Given the description of an element on the screen output the (x, y) to click on. 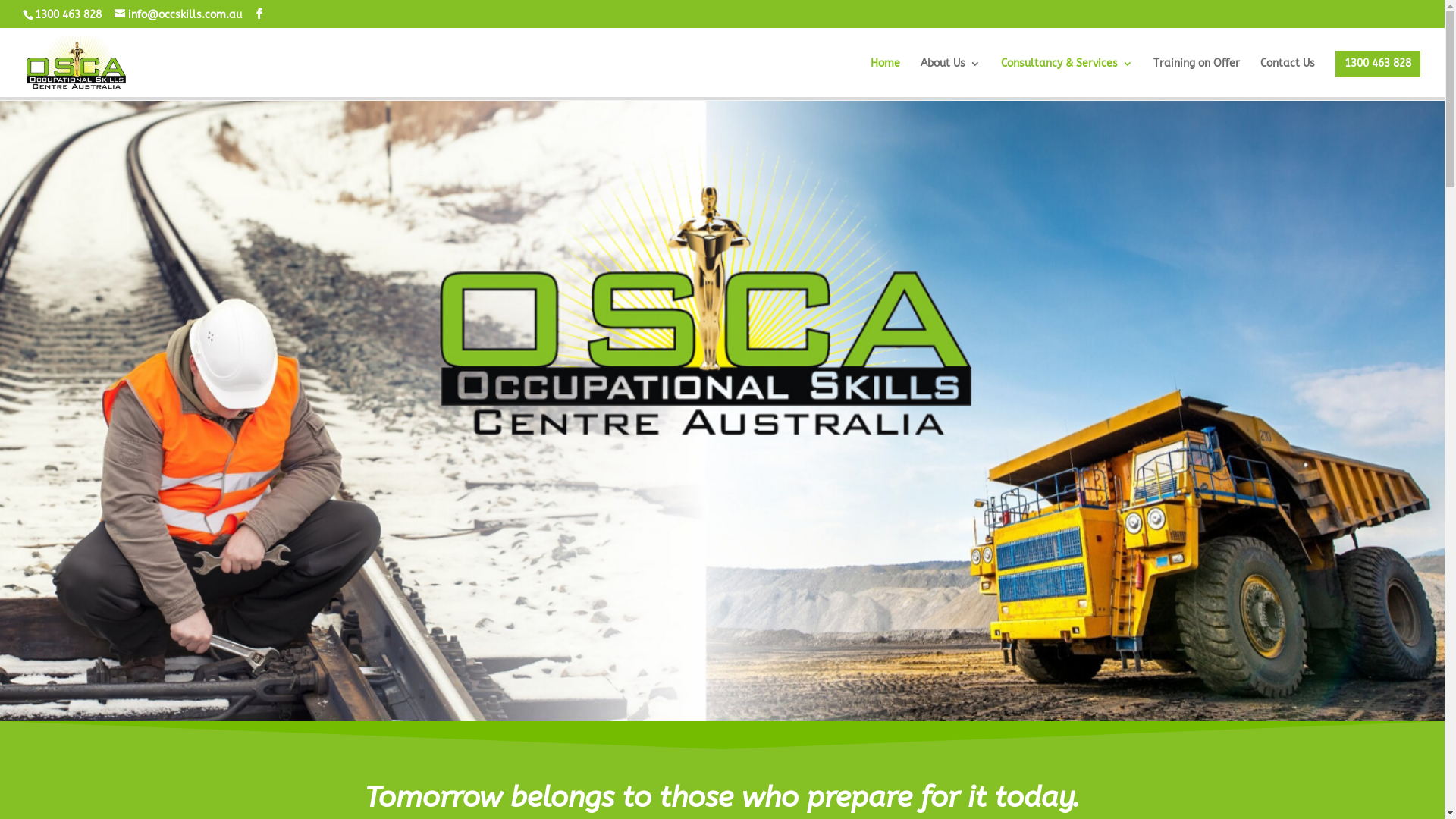
1300 463 828 Element type: text (66, 13)
Home Element type: text (885, 74)
1300 463 828 Element type: text (1377, 63)
Training on Offer Element type: text (1196, 74)
Consultancy & Services Element type: text (1066, 74)
About Us Element type: text (950, 74)
Contact Us Element type: text (1287, 74)
Occupational Skills Centre Cover Photo Element type: hover (722, 410)
info@occskills.com.au Element type: text (177, 13)
